Given the description of an element on the screen output the (x, y) to click on. 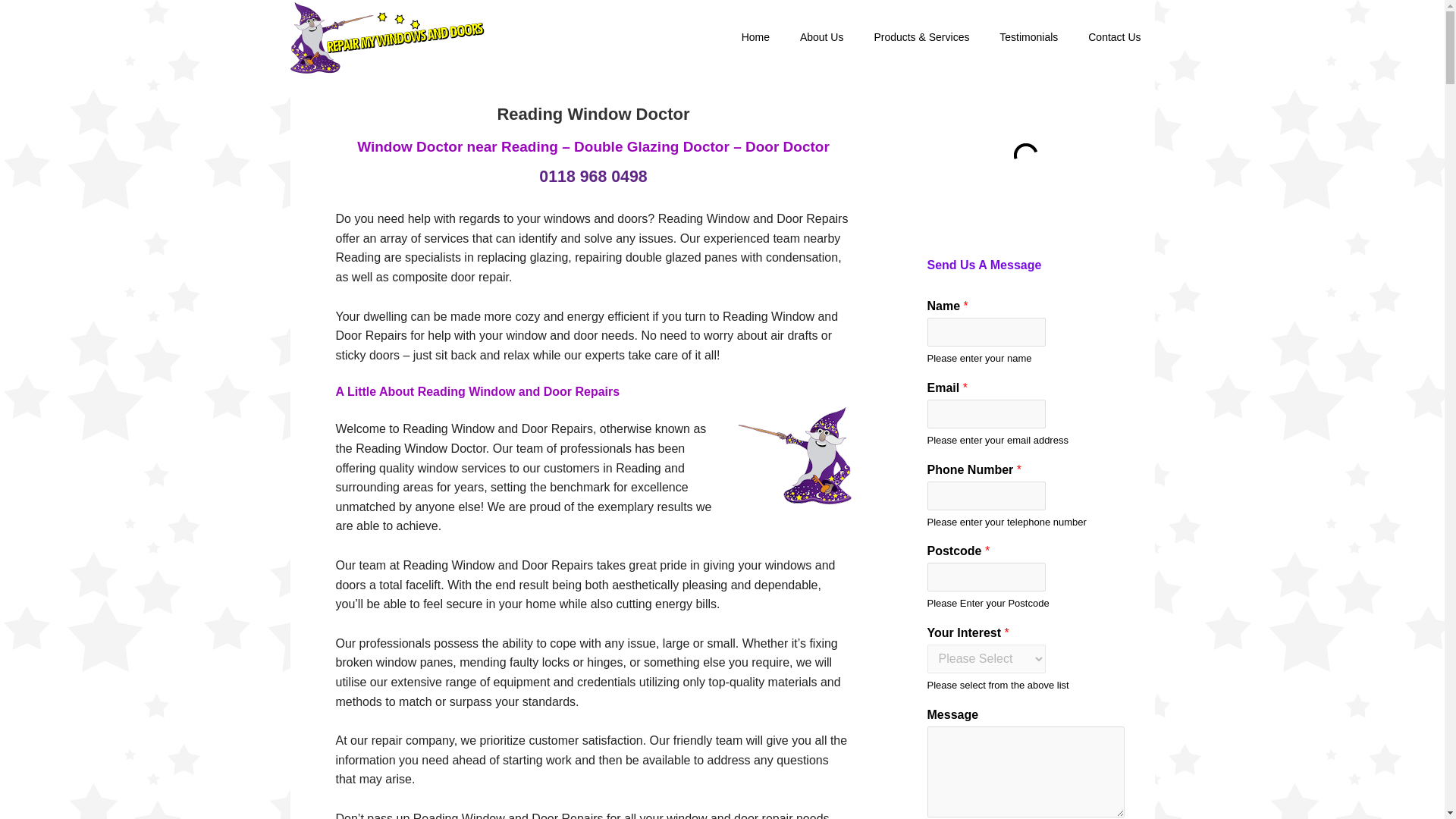
Contact Us (1114, 38)
Testimonials (1028, 38)
About Us (821, 38)
Repair My Windows and Doors (387, 38)
Reading Window and Door Repairs (793, 455)
